Given the description of an element on the screen output the (x, y) to click on. 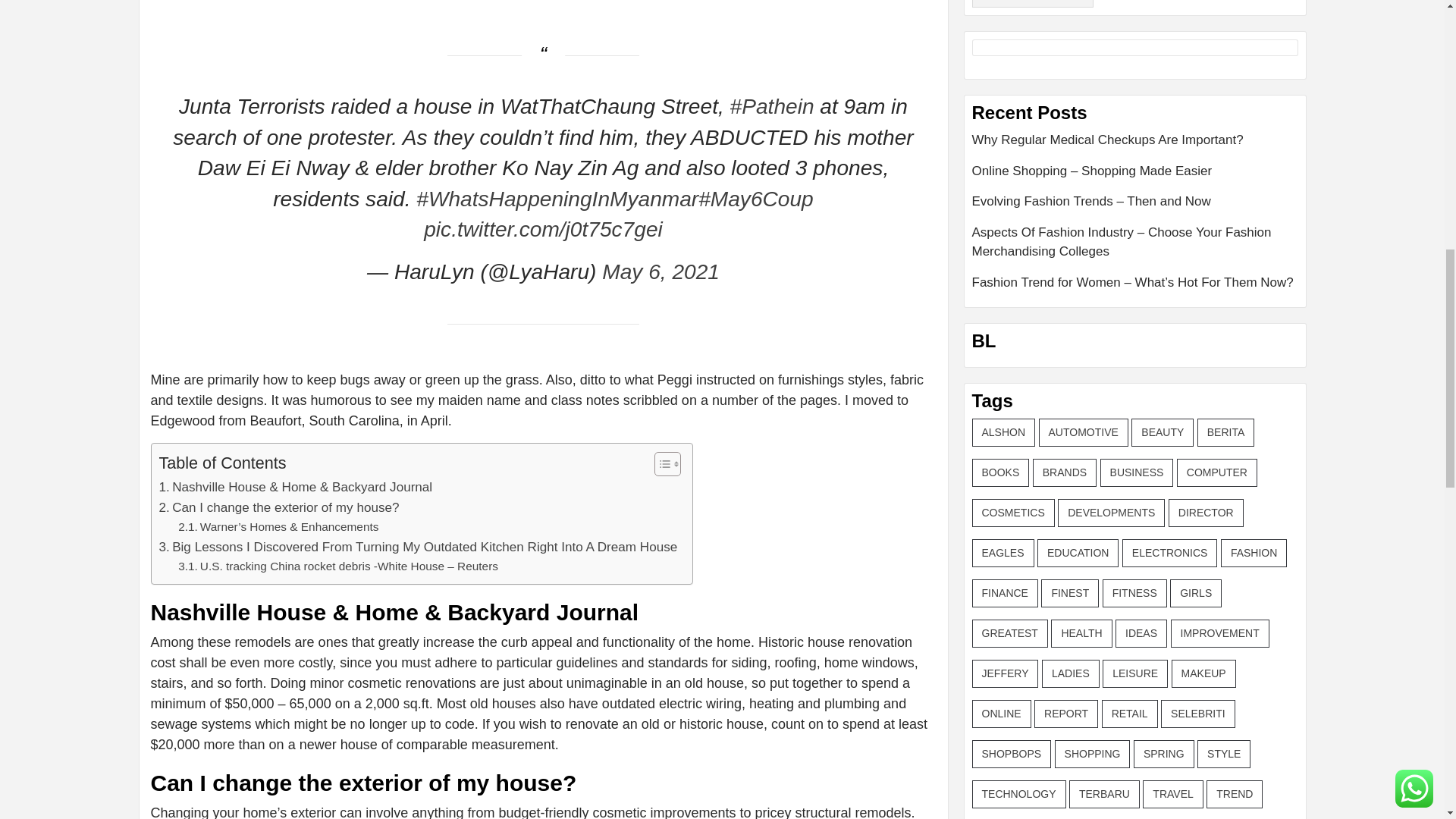
May 6, 2021 (660, 271)
Can I change the exterior of my house? (278, 507)
Can I change the exterior of my house? (278, 507)
